Given the description of an element on the screen output the (x, y) to click on. 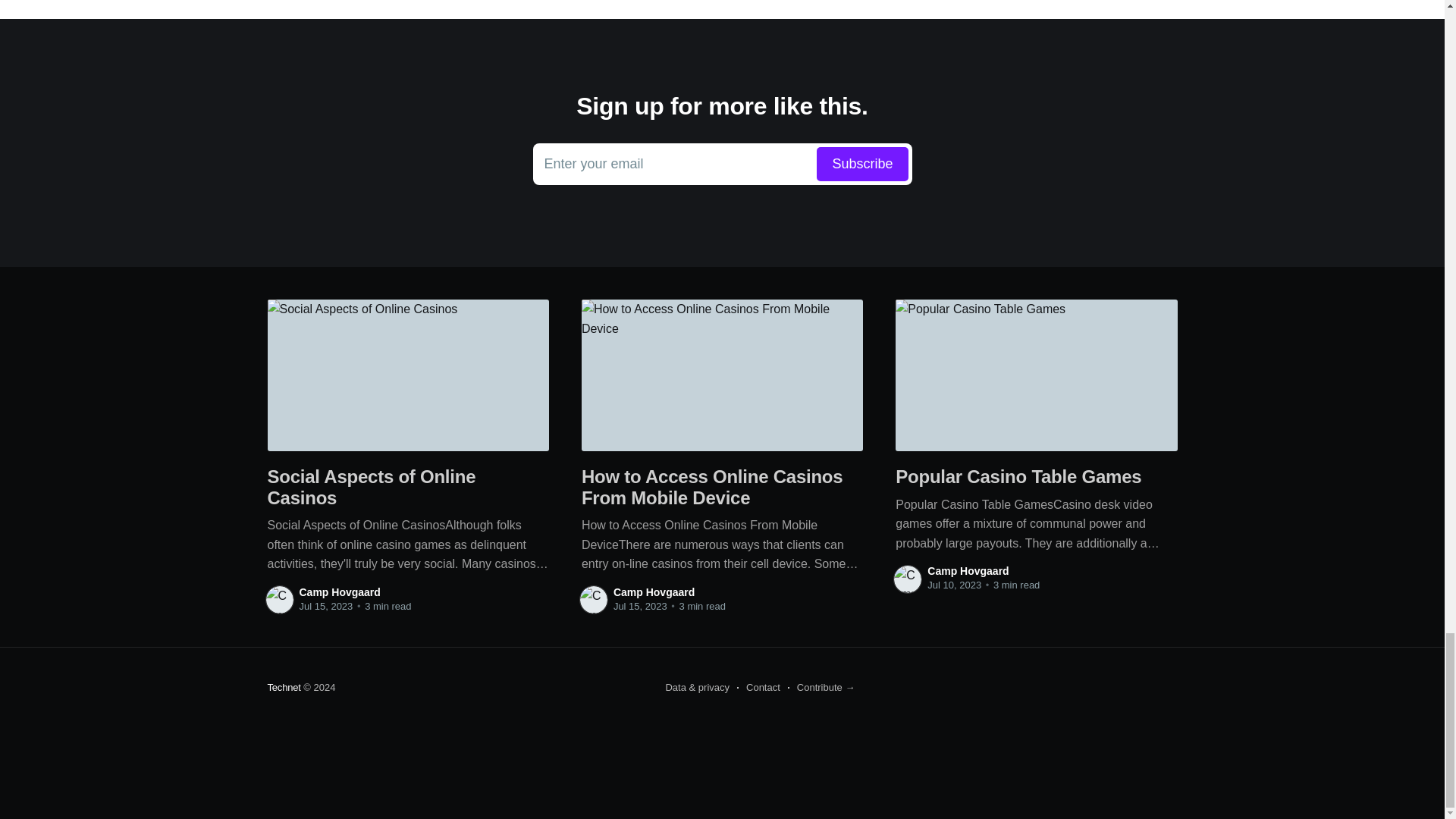
Camp Hovgaard (653, 592)
Camp Hovgaard (339, 592)
Technet (721, 164)
Camp Hovgaard (282, 686)
Contact (968, 571)
